Given the description of an element on the screen output the (x, y) to click on. 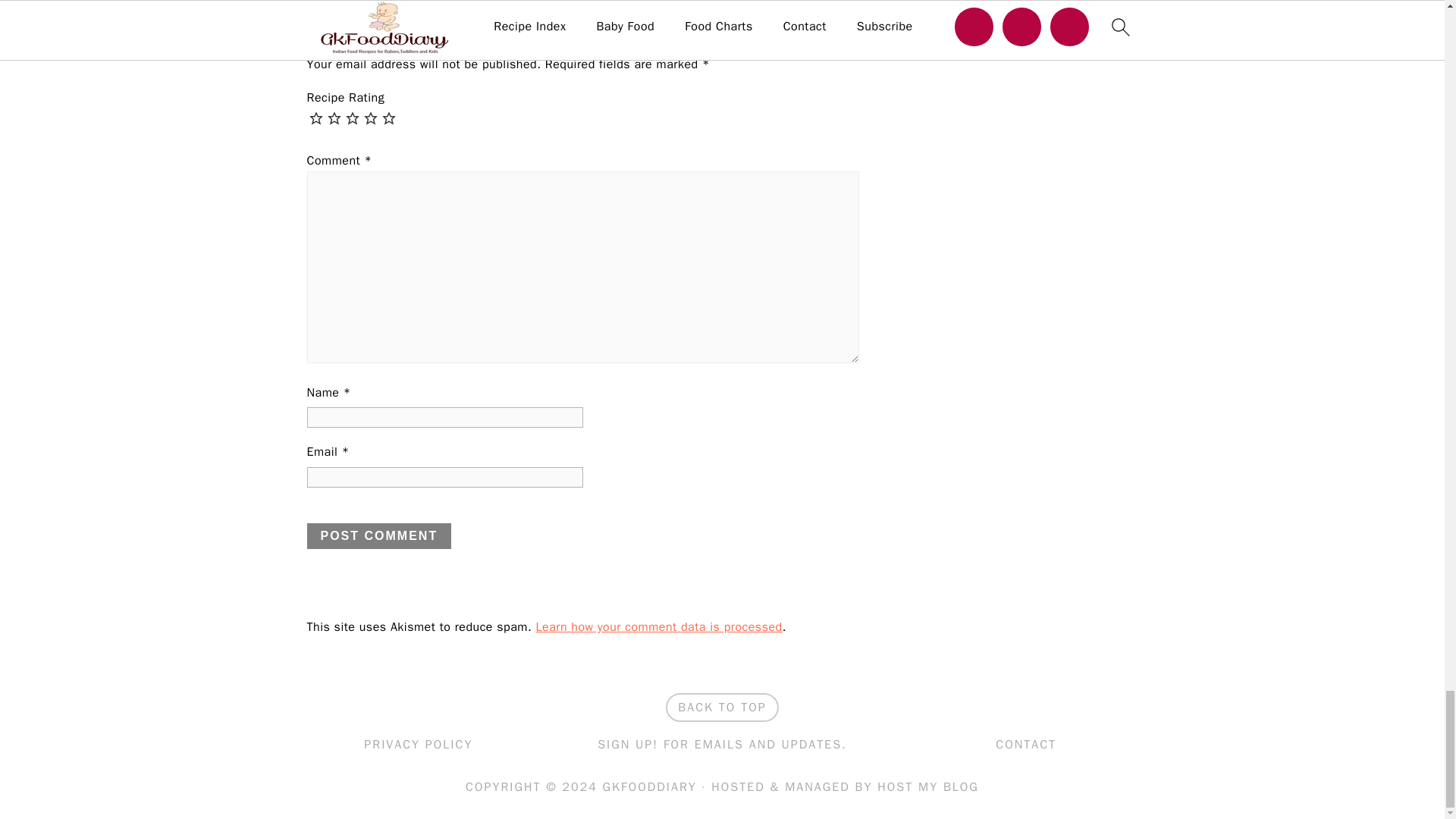
Post Comment (378, 535)
